Given the description of an element on the screen output the (x, y) to click on. 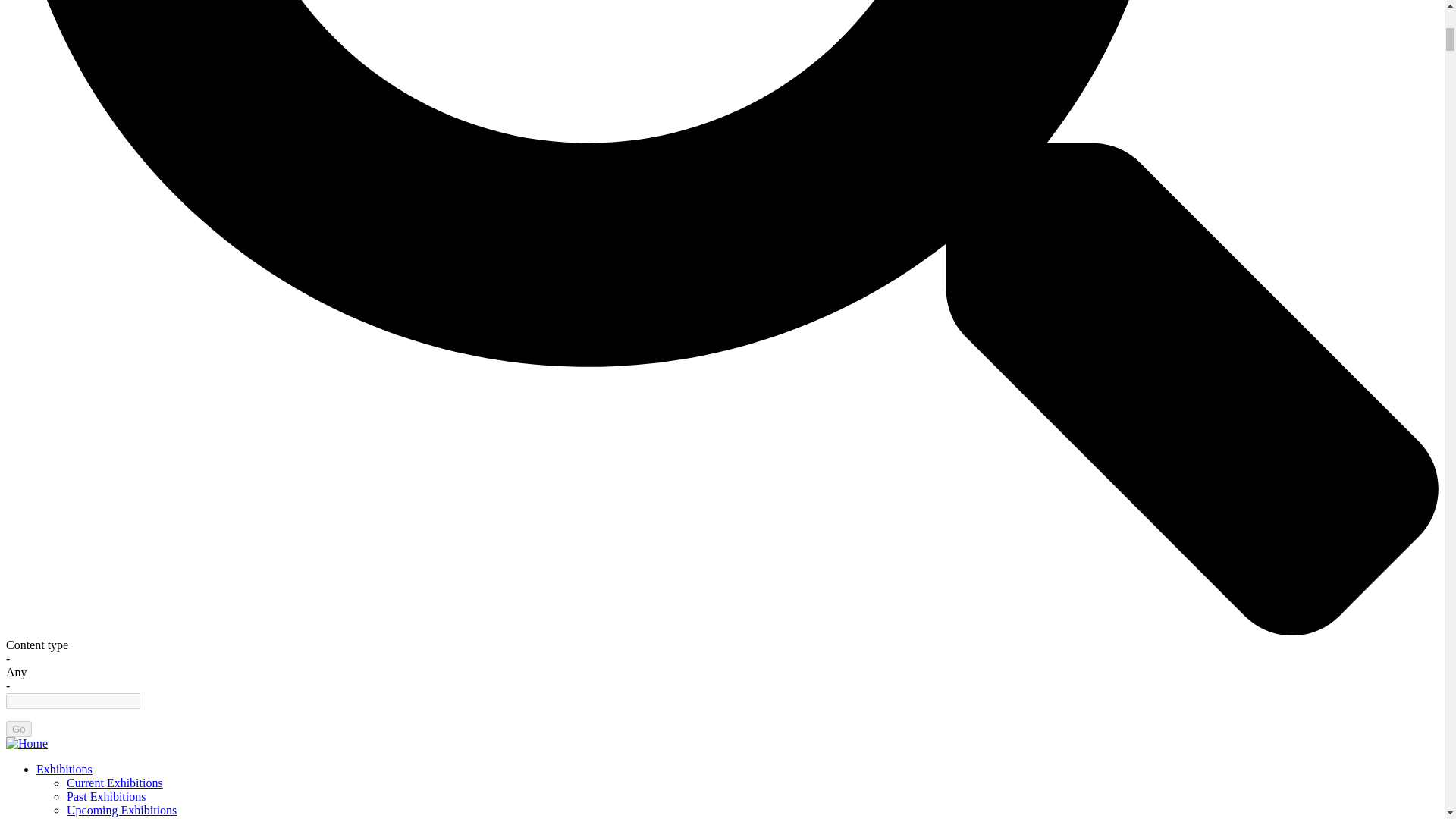
Gallery Map (97, 818)
Go (18, 729)
Go (18, 729)
Past Exhibitions (105, 796)
Home (26, 743)
Exhibitions (64, 768)
Upcoming Exhibitions (121, 809)
Current Exhibitions (114, 782)
- Any - (16, 671)
